Given the description of an element on the screen output the (x, y) to click on. 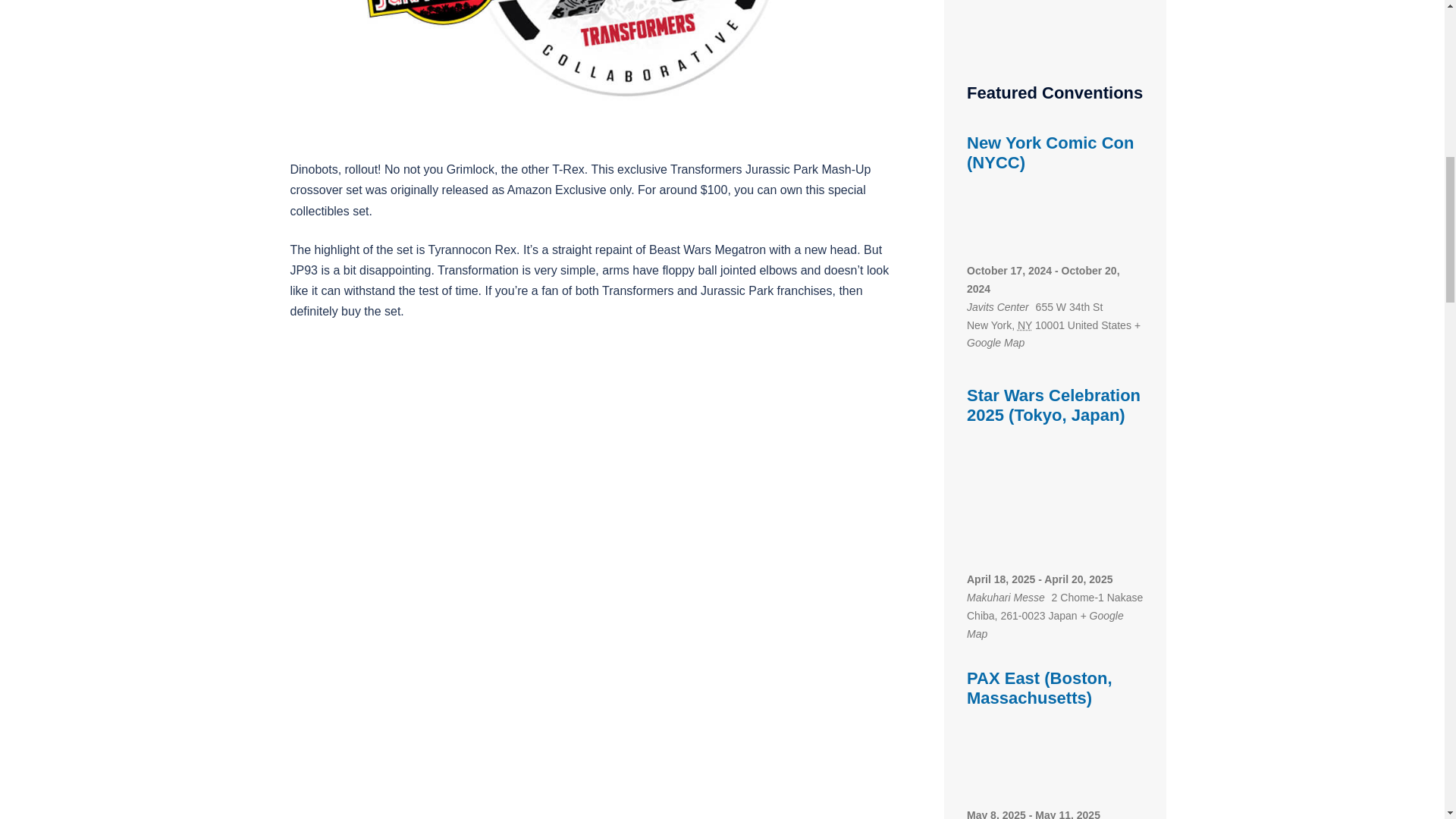
New York (1024, 325)
Click to view a Google Map (1053, 334)
Advertisement (1054, 35)
